Given the description of an element on the screen output the (x, y) to click on. 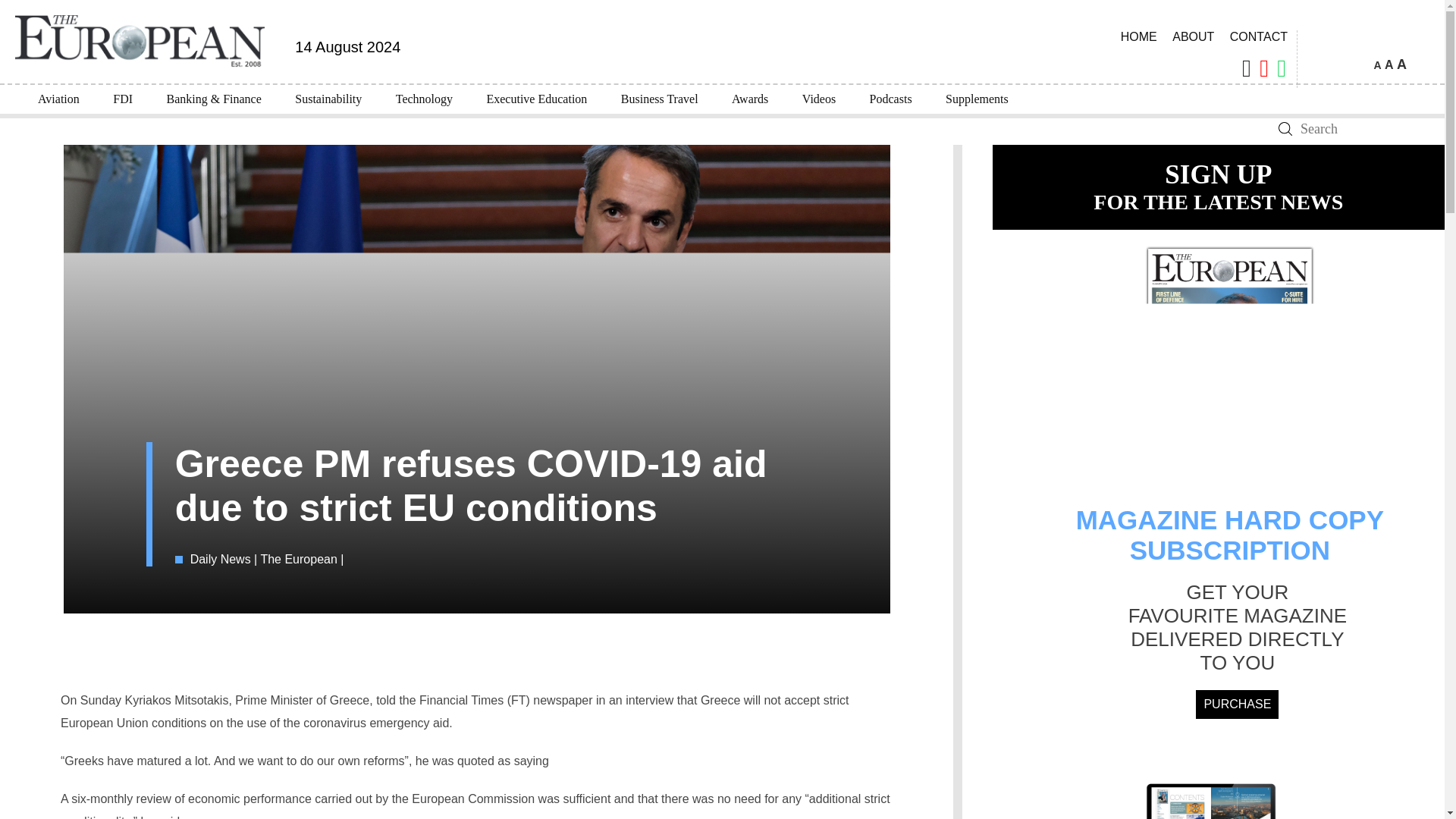
FDI (122, 99)
Search (1284, 128)
Awards (749, 99)
Podcasts (890, 99)
Search (1284, 128)
Business Travel (659, 99)
The European (300, 558)
Sustainability (328, 99)
CONTACT (1259, 36)
Technology (423, 99)
